Given the description of an element on the screen output the (x, y) to click on. 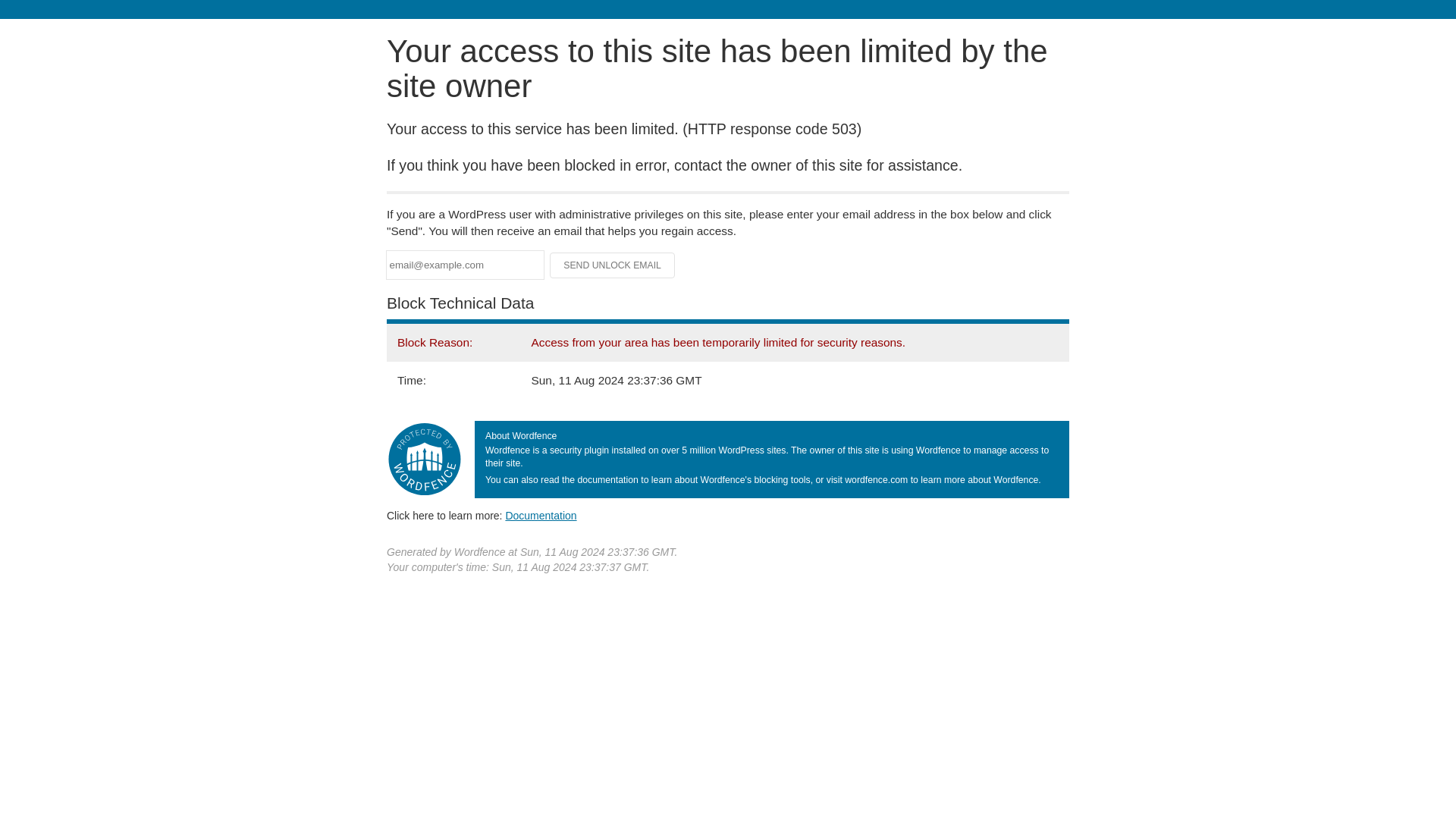
Documentation (540, 515)
Send Unlock Email (612, 265)
Send Unlock Email (612, 265)
